Given the description of an element on the screen output the (x, y) to click on. 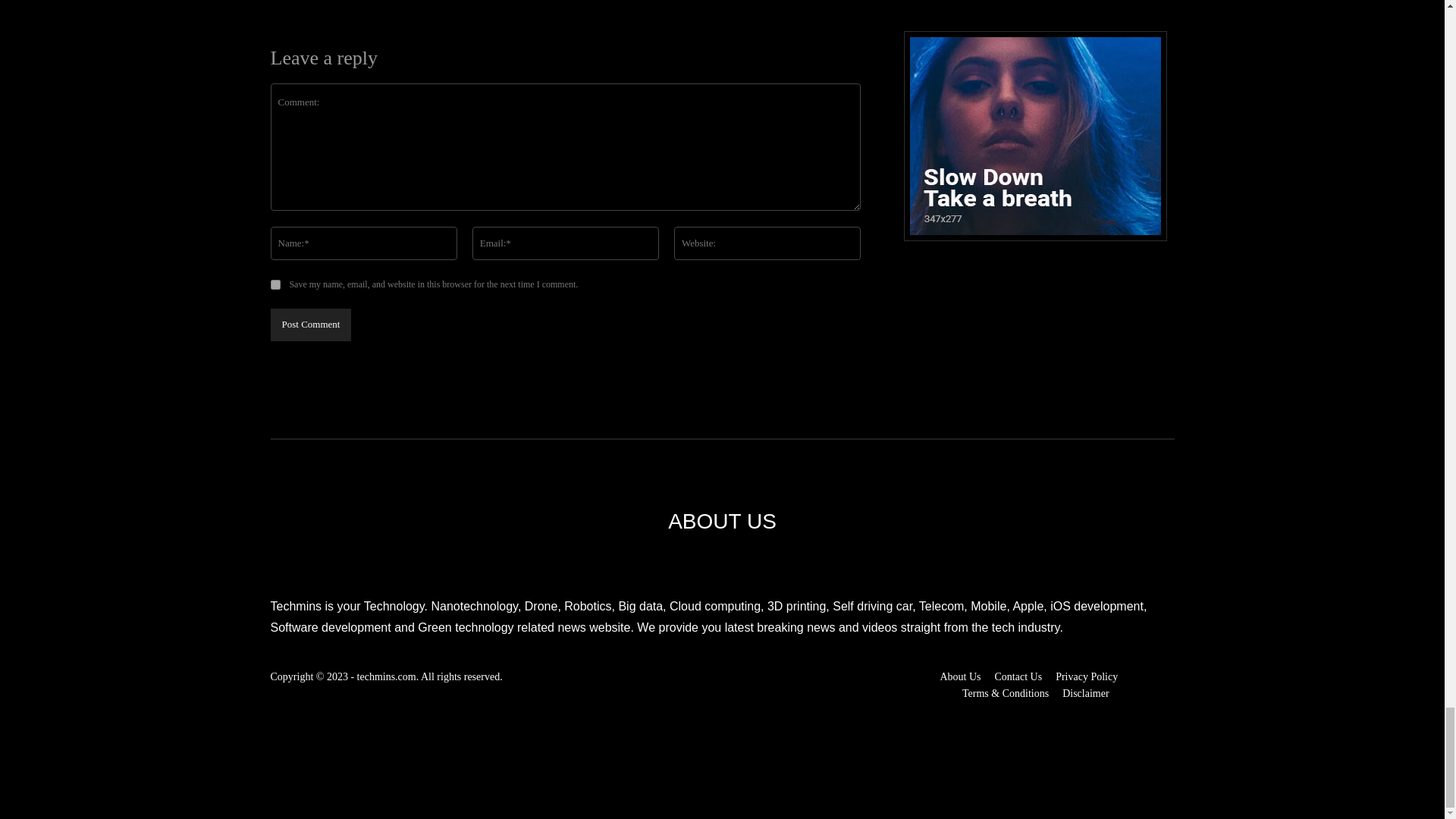
yes (274, 284)
Post Comment (309, 324)
